Given the description of an element on the screen output the (x, y) to click on. 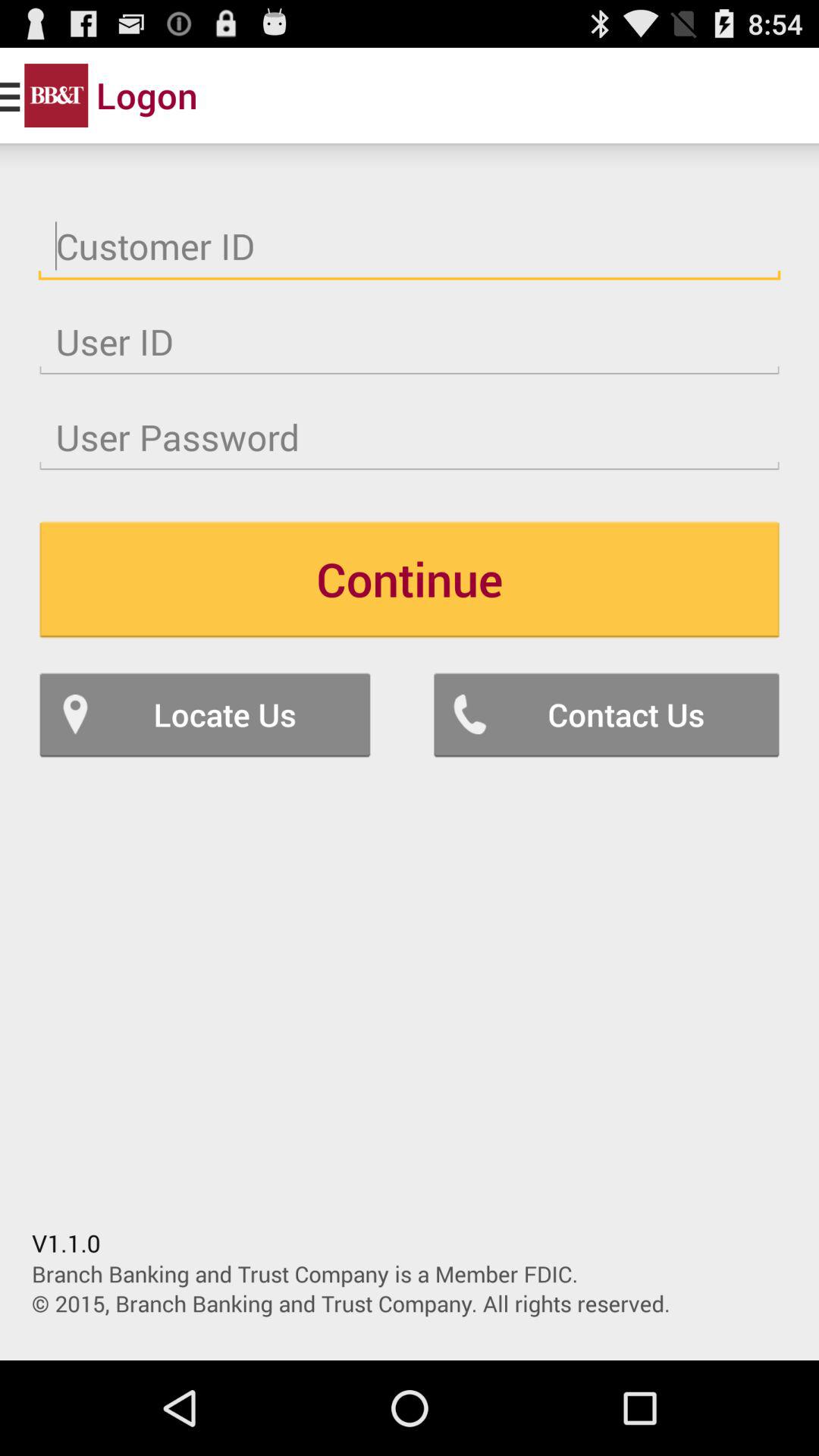
scroll to locate us (204, 714)
